Given the description of an element on the screen output the (x, y) to click on. 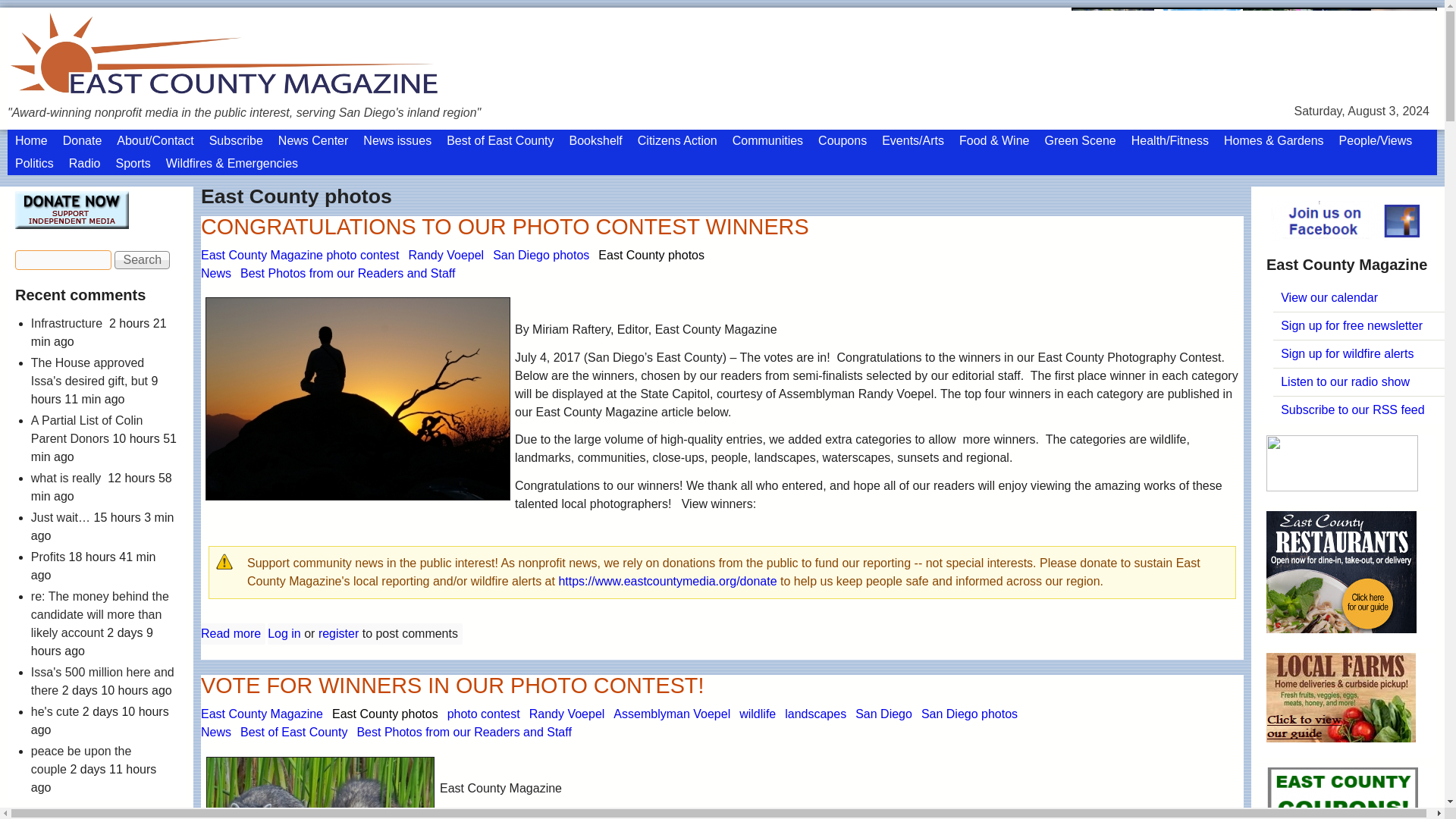
News issues (397, 140)
Best of East County (499, 140)
Subscribe (236, 140)
Search (142, 259)
Home (31, 140)
News Center (312, 140)
Donate (82, 140)
